Given the description of an element on the screen output the (x, y) to click on. 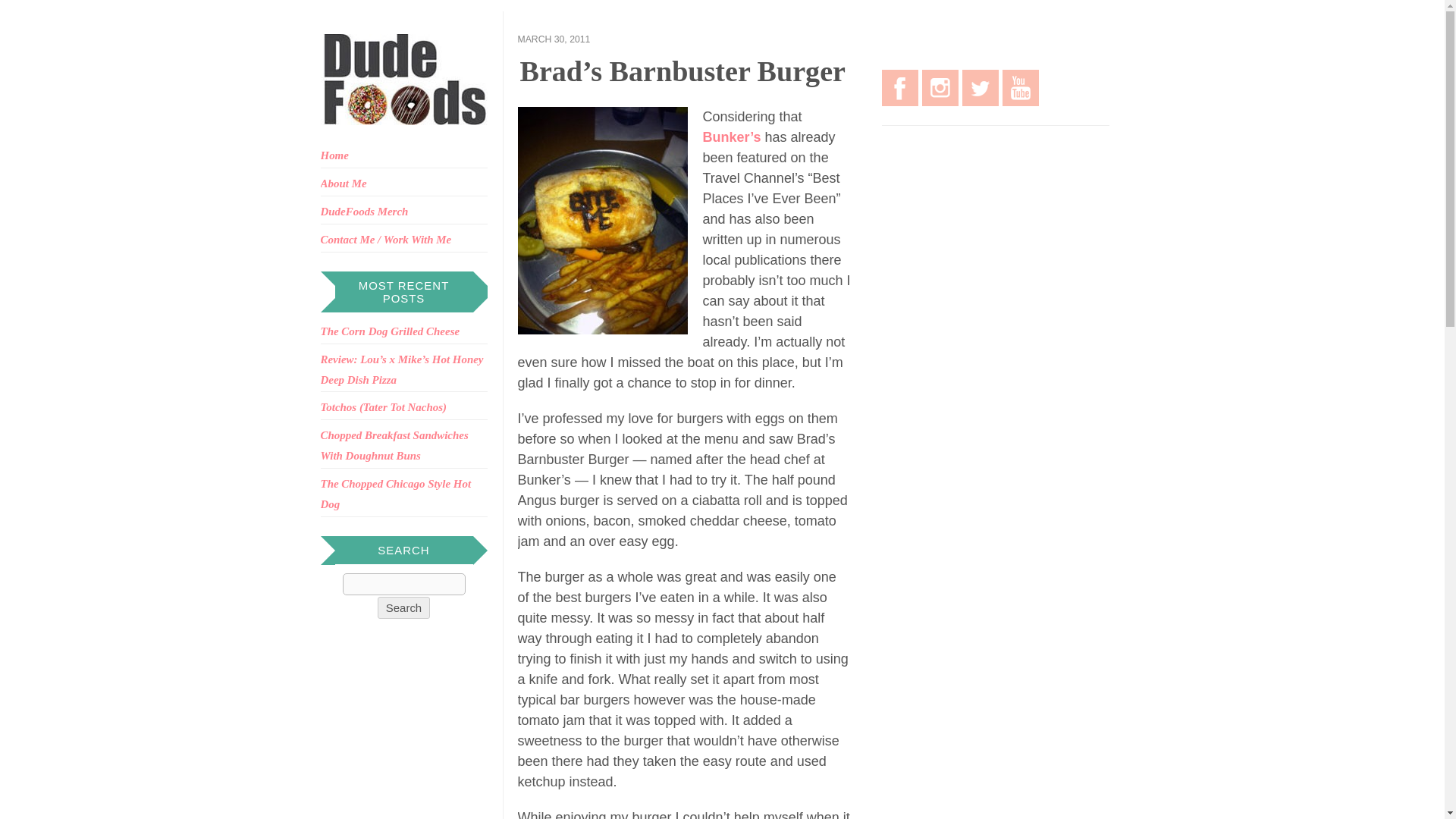
Chopped Breakfast Sandwiches With Doughnut Buns (393, 445)
Twitter (978, 87)
Instagram (939, 87)
Home (333, 155)
The Corn Dog Grilled Cheese (390, 331)
YouTube (1021, 87)
Search (403, 584)
DudeFoods Merch (363, 211)
The Chopped Chicago Style Hot Dog (395, 493)
DudeFoods Merch (363, 211)
Home (333, 155)
Facebook (898, 87)
The Corn Dog Grilled Cheese (390, 331)
Twitter (978, 87)
About Me (343, 183)
